Given the description of an element on the screen output the (x, y) to click on. 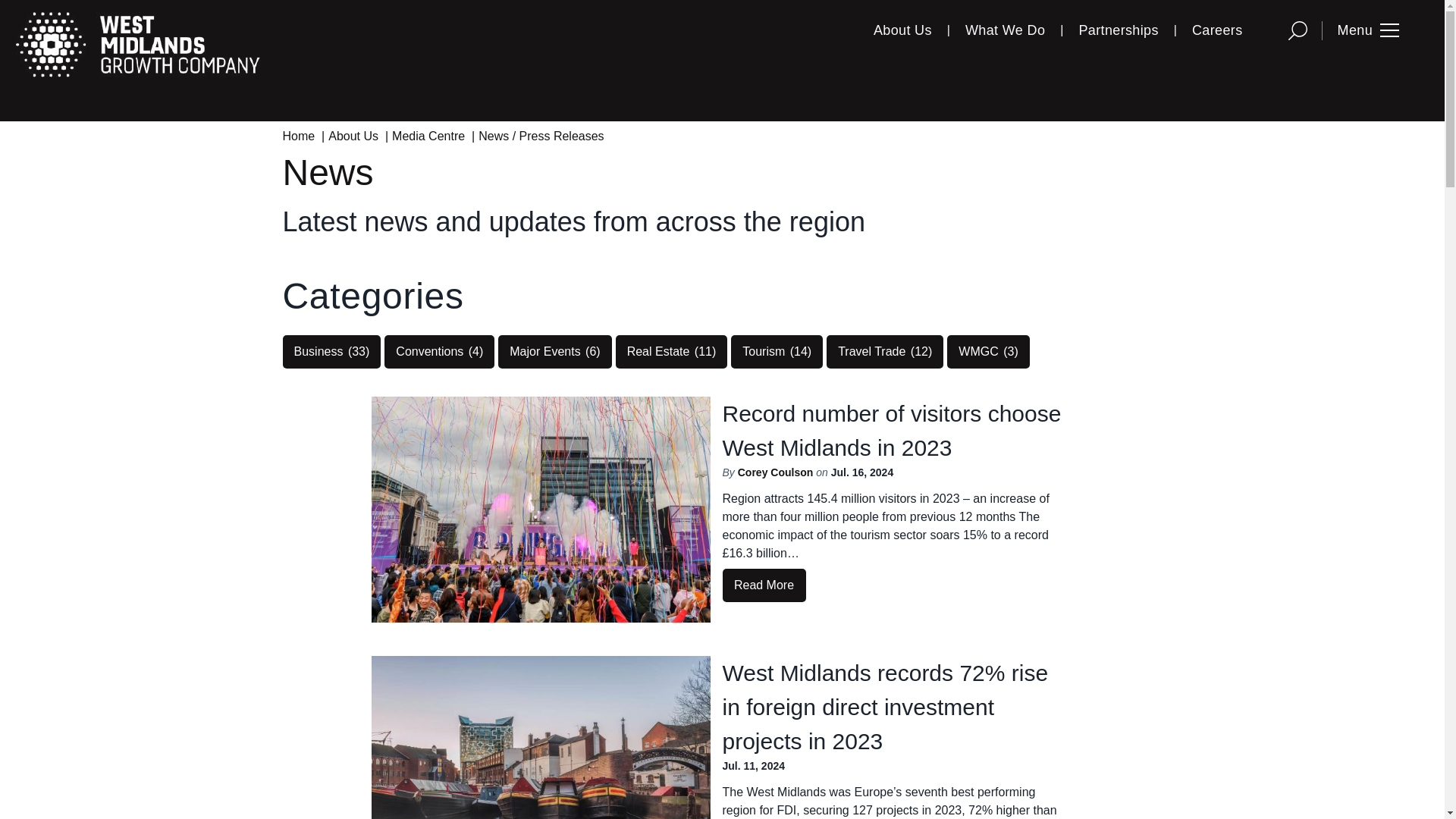
Menu (1368, 30)
Partnerships (1117, 30)
About Us (903, 30)
Careers (1216, 30)
What We Do (1004, 30)
